Given the description of an element on the screen output the (x, y) to click on. 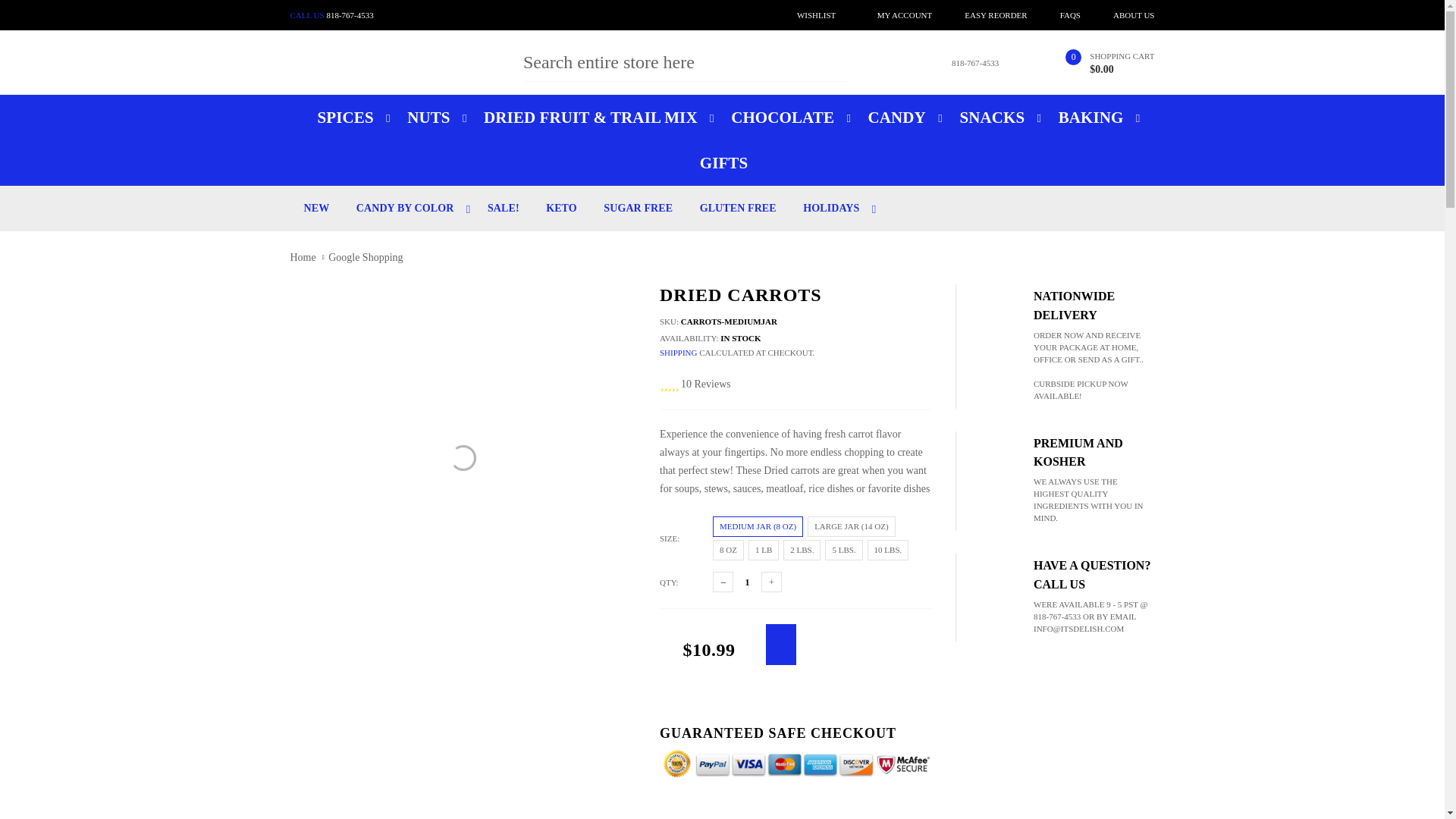
1 (746, 582)
